Given the description of an element on the screen output the (x, y) to click on. 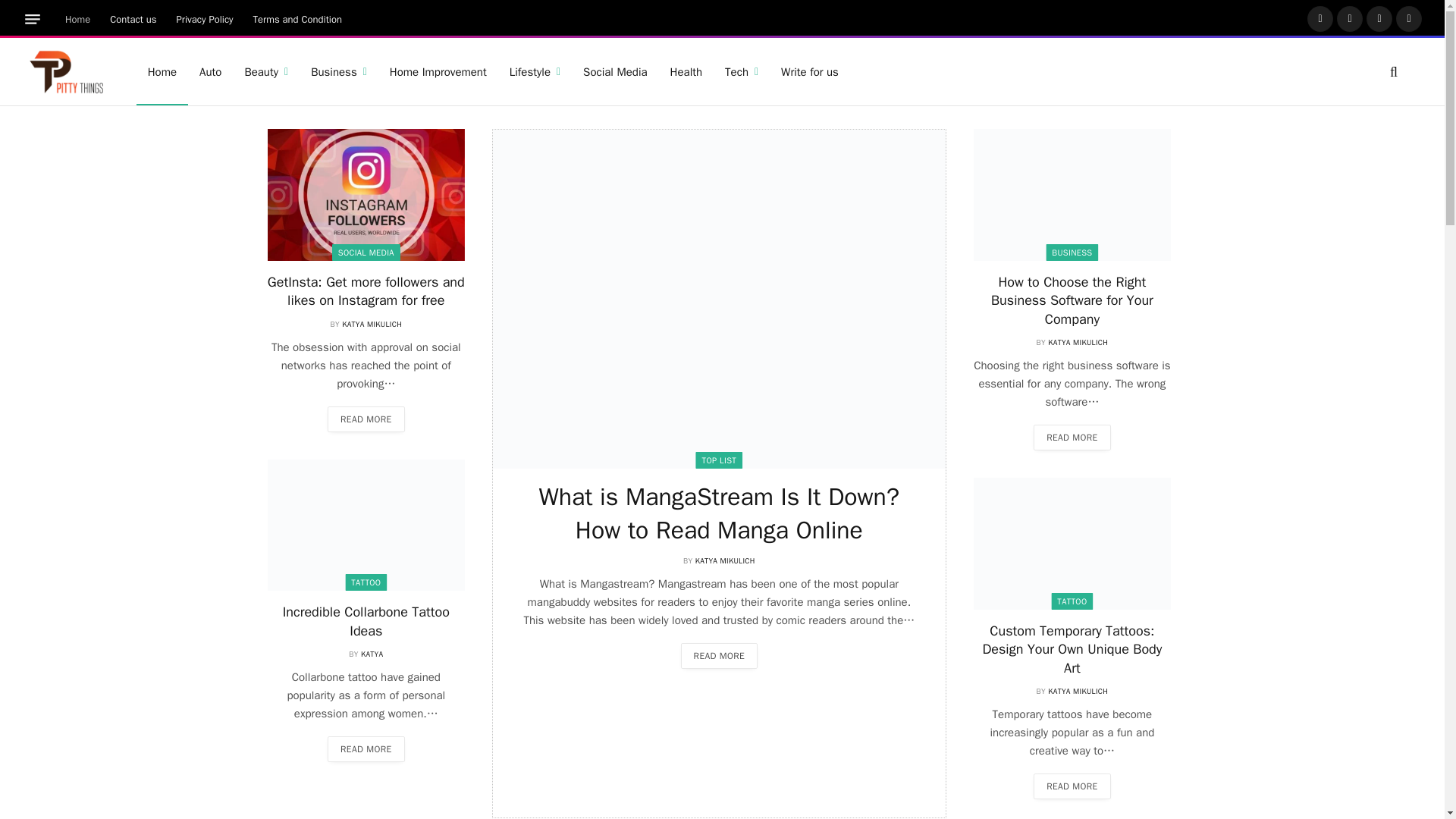
Contact us (132, 19)
Pinterest (1409, 18)
Posts by Katya Mikulich (371, 324)
Instagram (1379, 18)
Home (77, 19)
Facebook (1320, 18)
Privacy Policy (205, 19)
GetInsta: Get more followers and likes on Instagram for free (365, 194)
Terms and Condition (297, 19)
Incredible Collarbone Tattoo Ideas (365, 525)
